Given the description of an element on the screen output the (x, y) to click on. 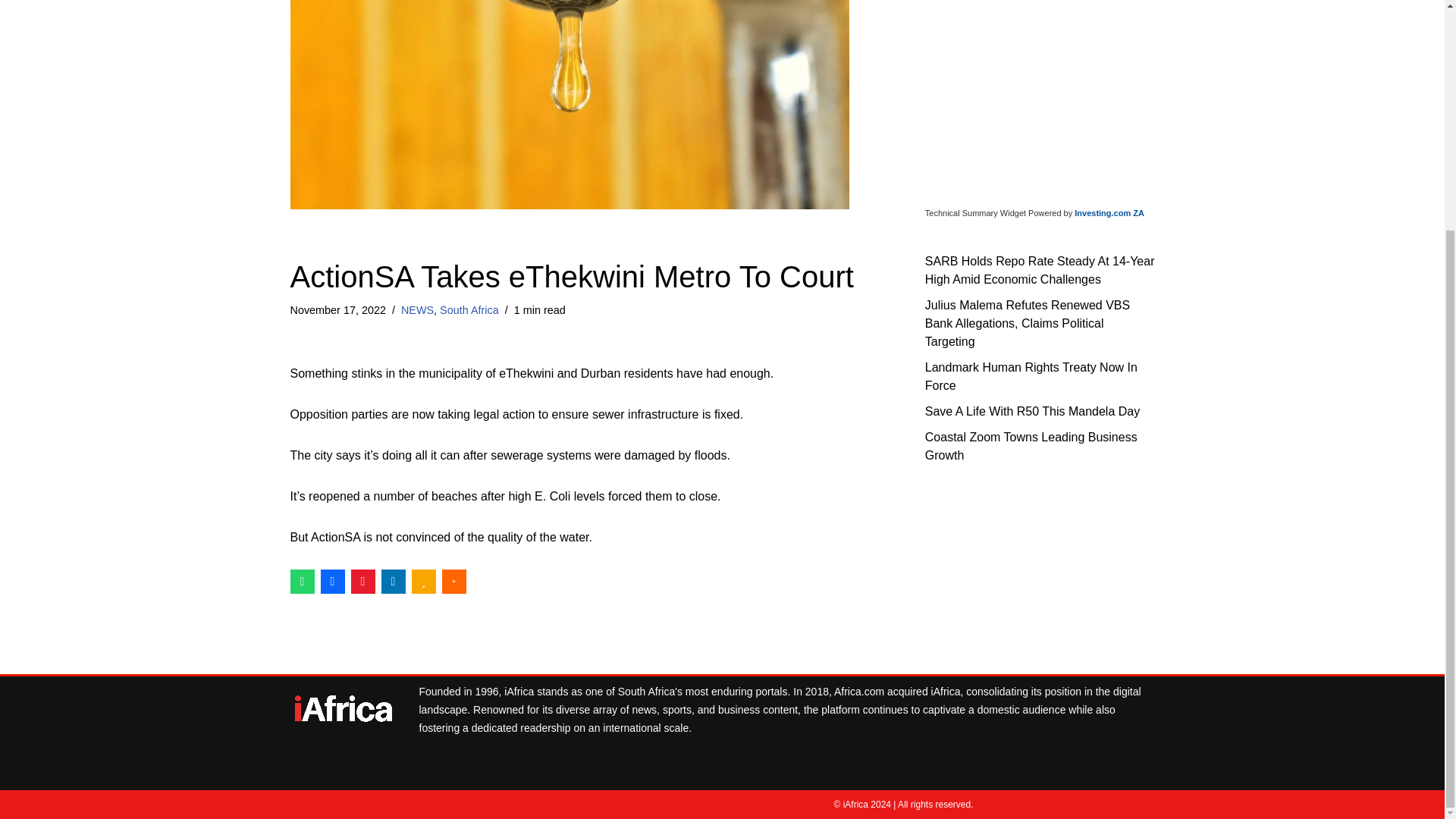
Landmark Human Rights Treaty Now In Force (1030, 375)
Convert to PDF (362, 581)
WhatsApp (301, 581)
More share links (453, 581)
NEWS (417, 309)
Investing.com ZA (1109, 212)
Add this to LinkedIn (392, 581)
Share this on Facebook (331, 581)
Save A Life With R50 This Mandela Day (1032, 410)
Add to favorites (422, 581)
Coastal Zoom Towns Leading Business Growth (1030, 445)
South Africa (469, 309)
